Given the description of an element on the screen output the (x, y) to click on. 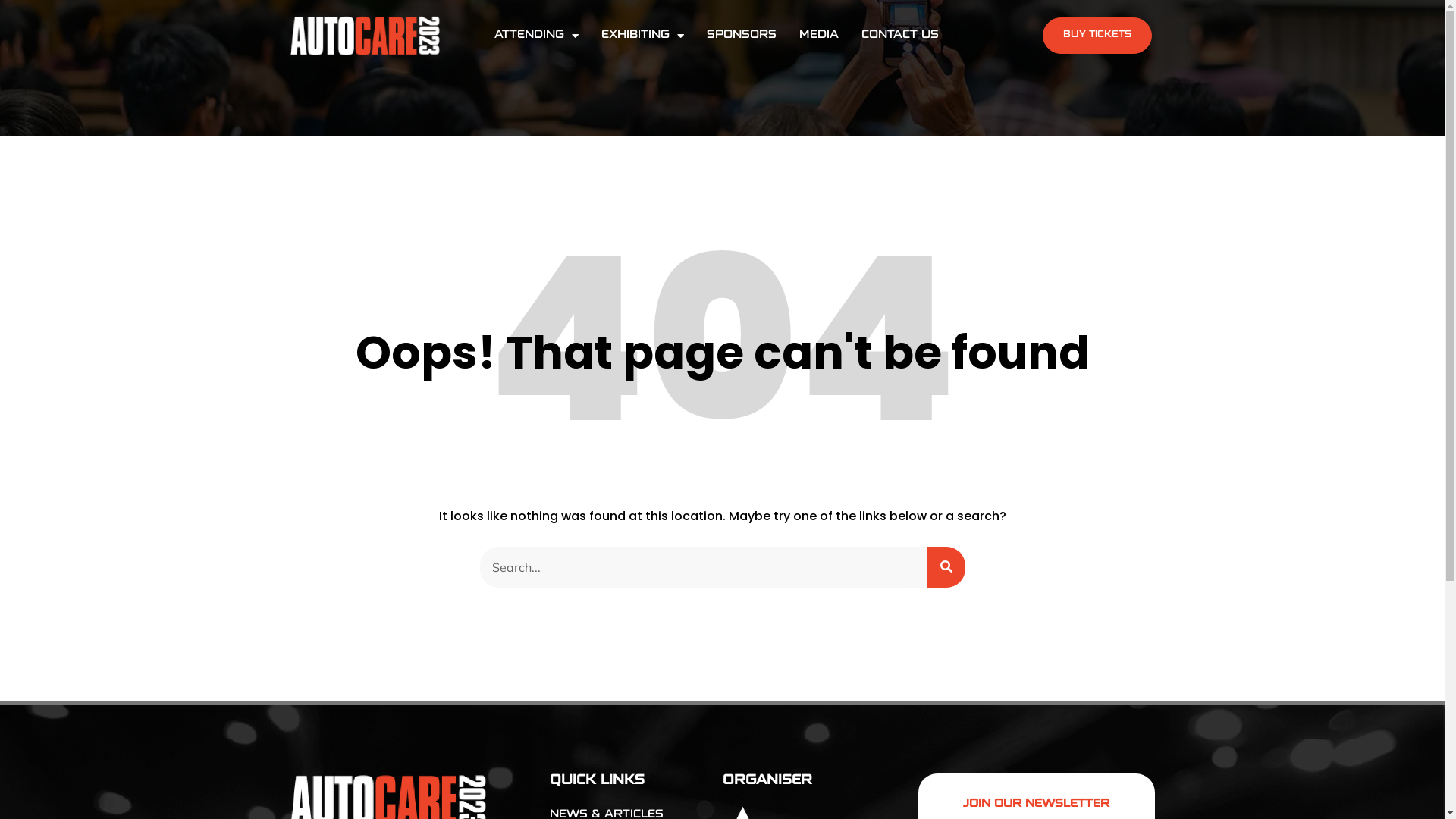
MEDIA Element type: text (818, 35)
BUY TICKETS Element type: text (1096, 35)
EXHIBITING Element type: text (642, 35)
ATTENDING Element type: text (536, 35)
SPONSORS Element type: text (741, 35)
CONTACT US Element type: text (899, 35)
